Given the description of an element on the screen output the (x, y) to click on. 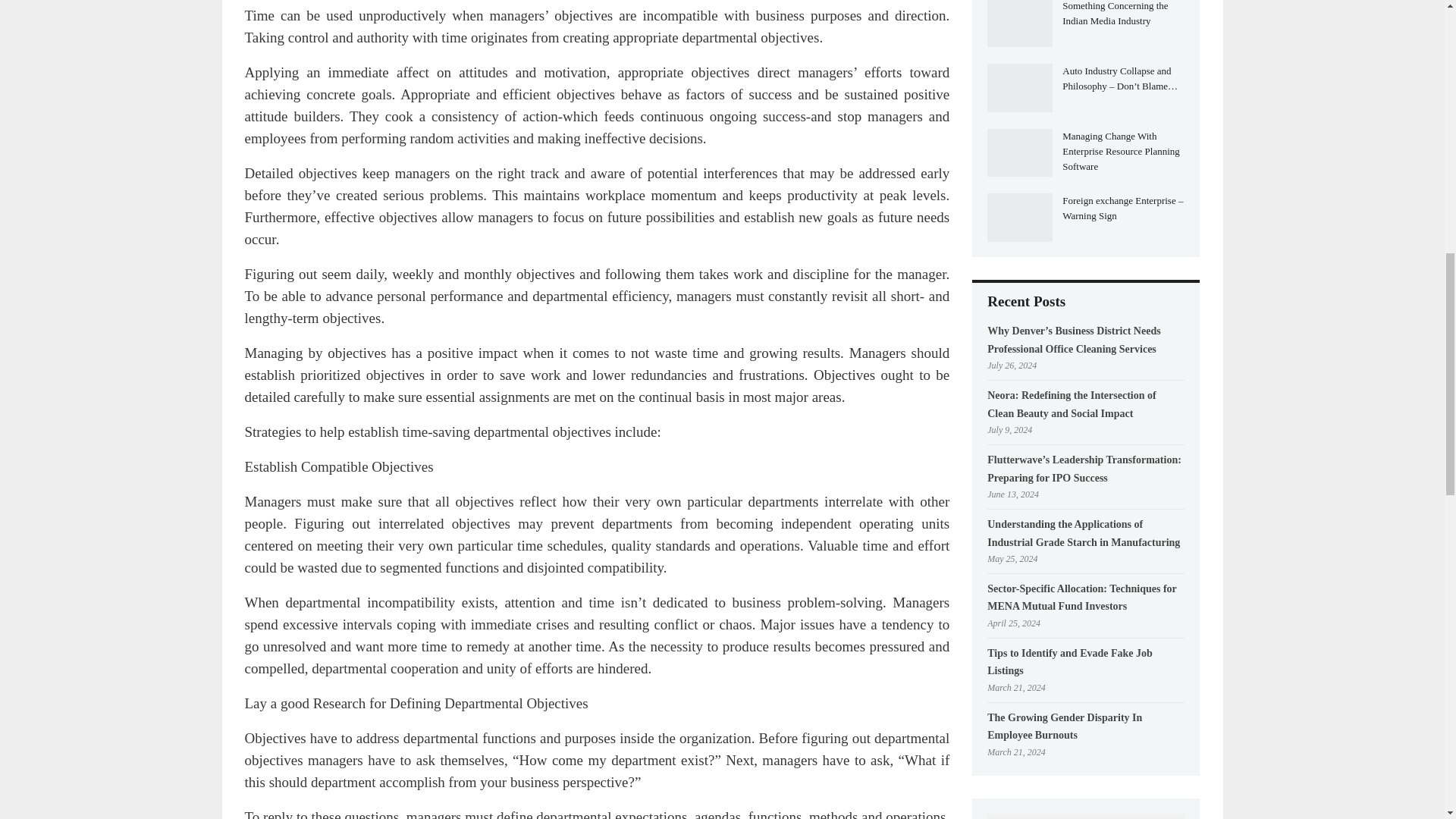
Something Concerning the Indian Media Industry (1019, 23)
